Given the description of an element on the screen output the (x, y) to click on. 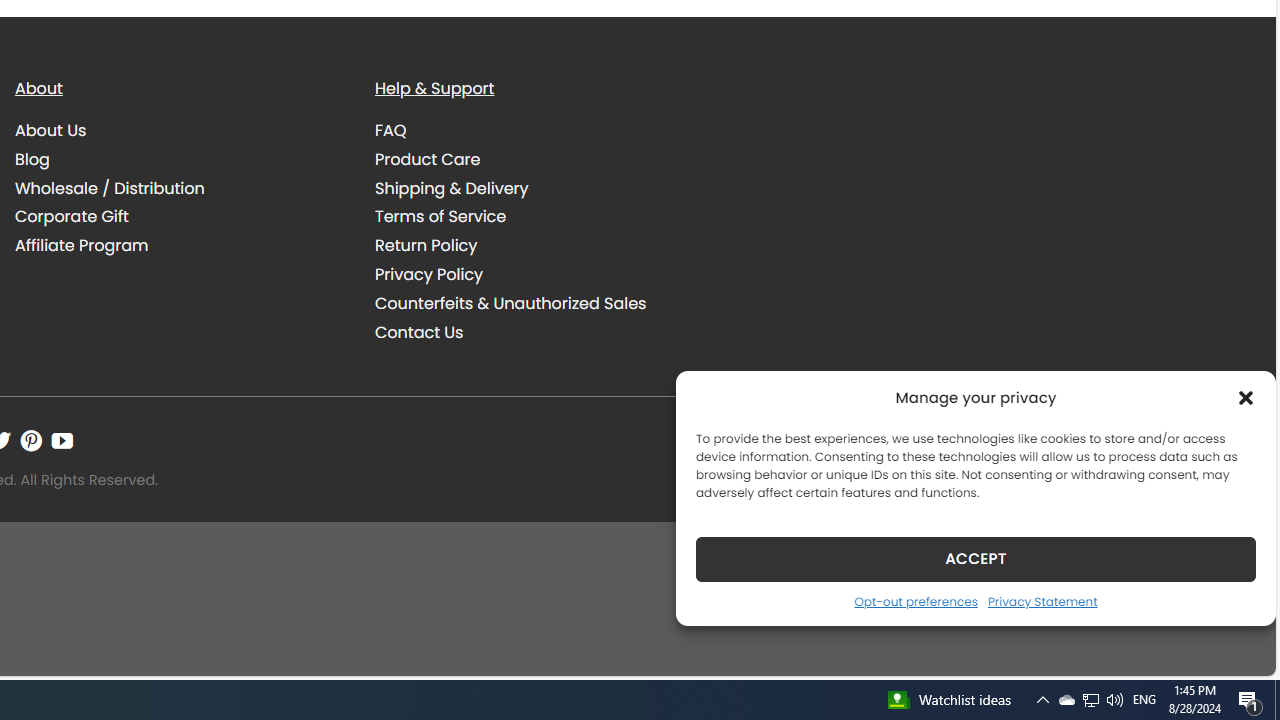
Contact Us (540, 332)
Contact Us (419, 331)
ACCEPT (975, 558)
Corporate Gift (72, 216)
FAQ (540, 131)
About Us (51, 130)
Product Care (428, 158)
Shipping & Delivery (540, 188)
FAQ (391, 130)
Privacy Policy (540, 274)
About Us (180, 131)
Opt-out preferences (915, 601)
Blog (180, 159)
Privacy Statement (1042, 601)
Privacy Policy (429, 273)
